Given the description of an element on the screen output the (x, y) to click on. 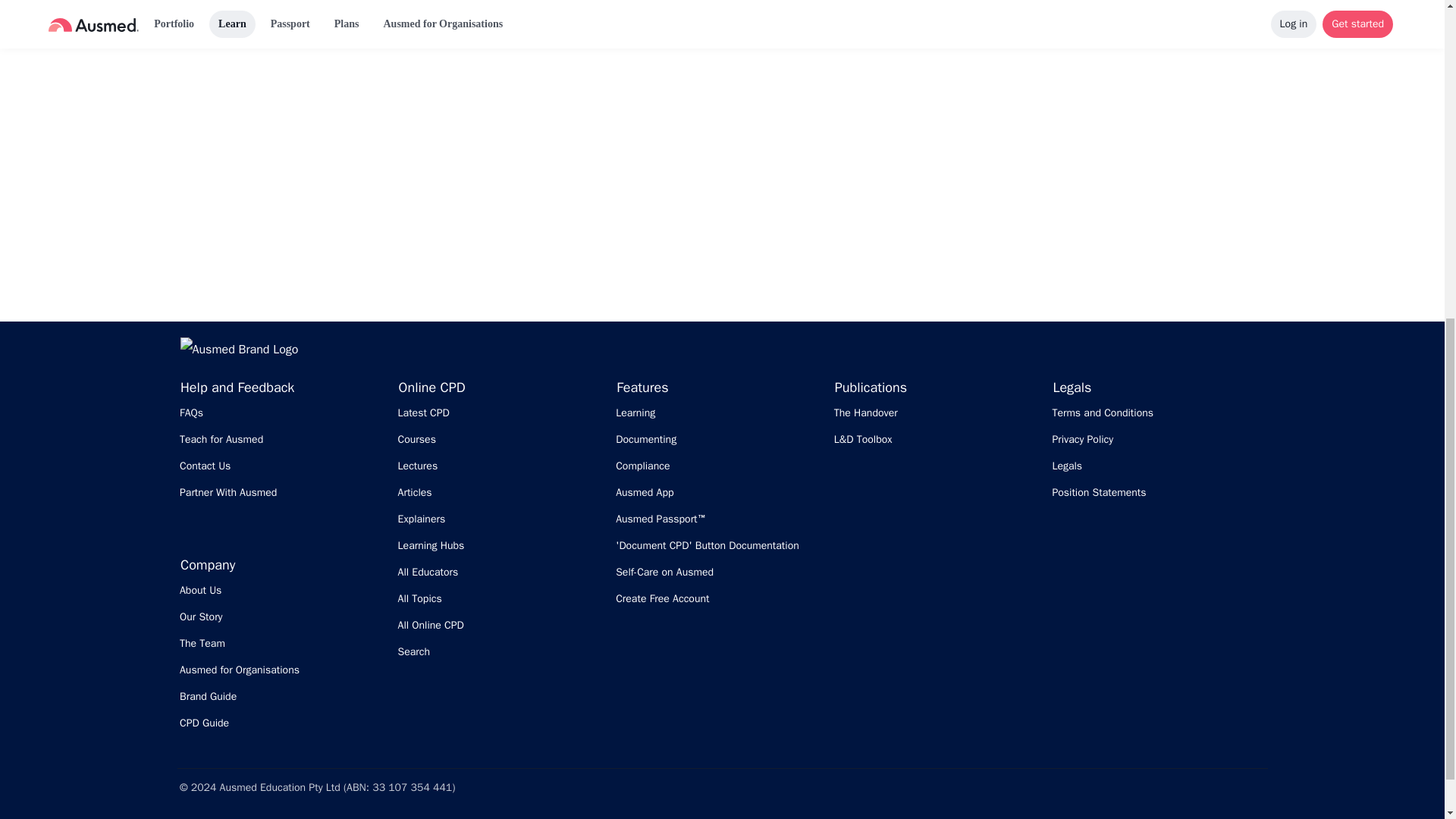
The Team (280, 643)
Partner With Ausmed (280, 492)
Contact Us (280, 465)
FAQs (280, 413)
Our Story (280, 617)
Teach for Ausmed (280, 439)
About Us (280, 590)
Ausmed Home (239, 348)
